Given the description of an element on the screen output the (x, y) to click on. 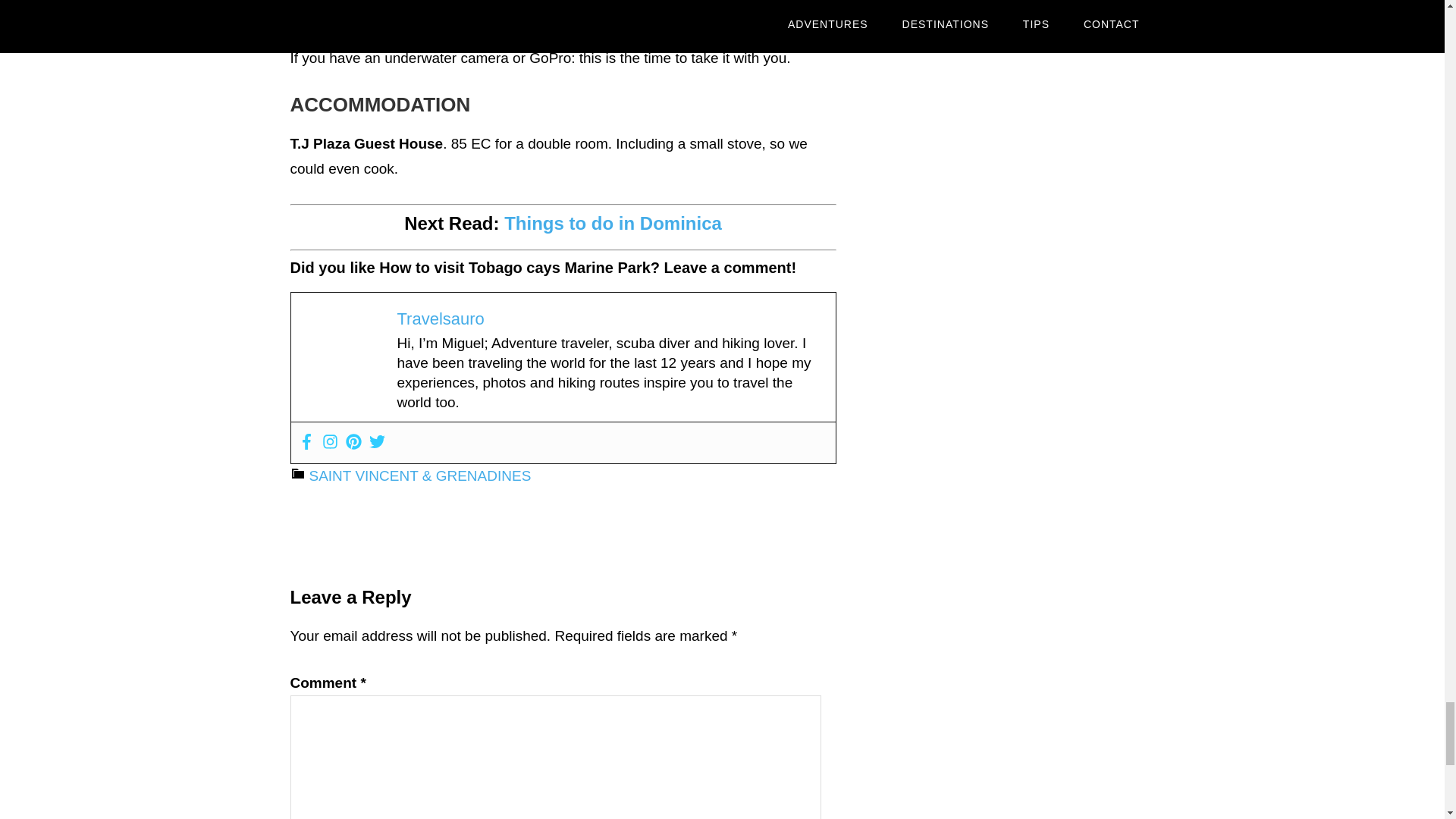
Twitter (376, 443)
Instagram (329, 443)
Pinterest (353, 443)
Facebook (306, 443)
